Given the description of an element on the screen output the (x, y) to click on. 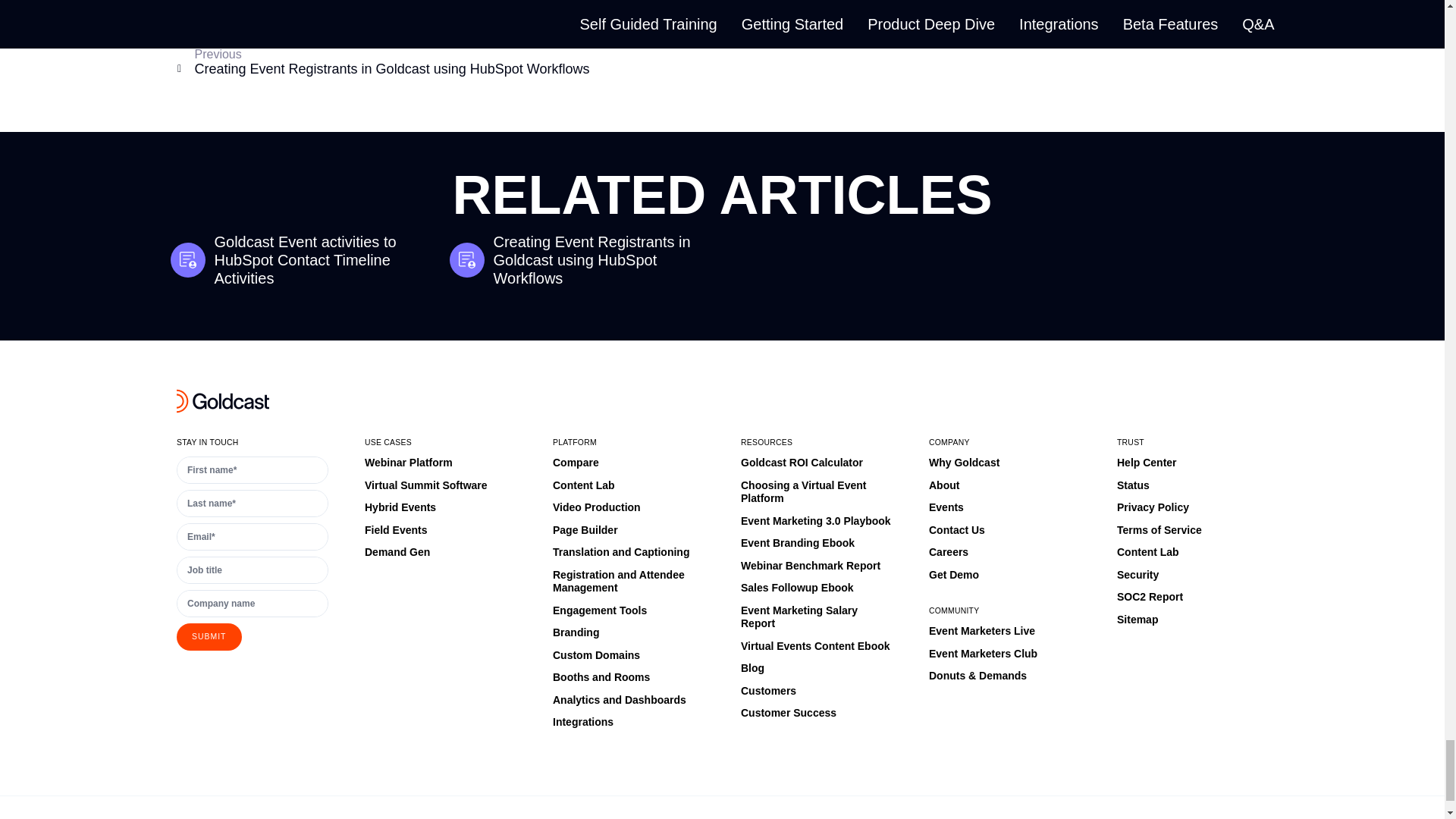
Submit (208, 636)
